Given the description of an element on the screen output the (x, y) to click on. 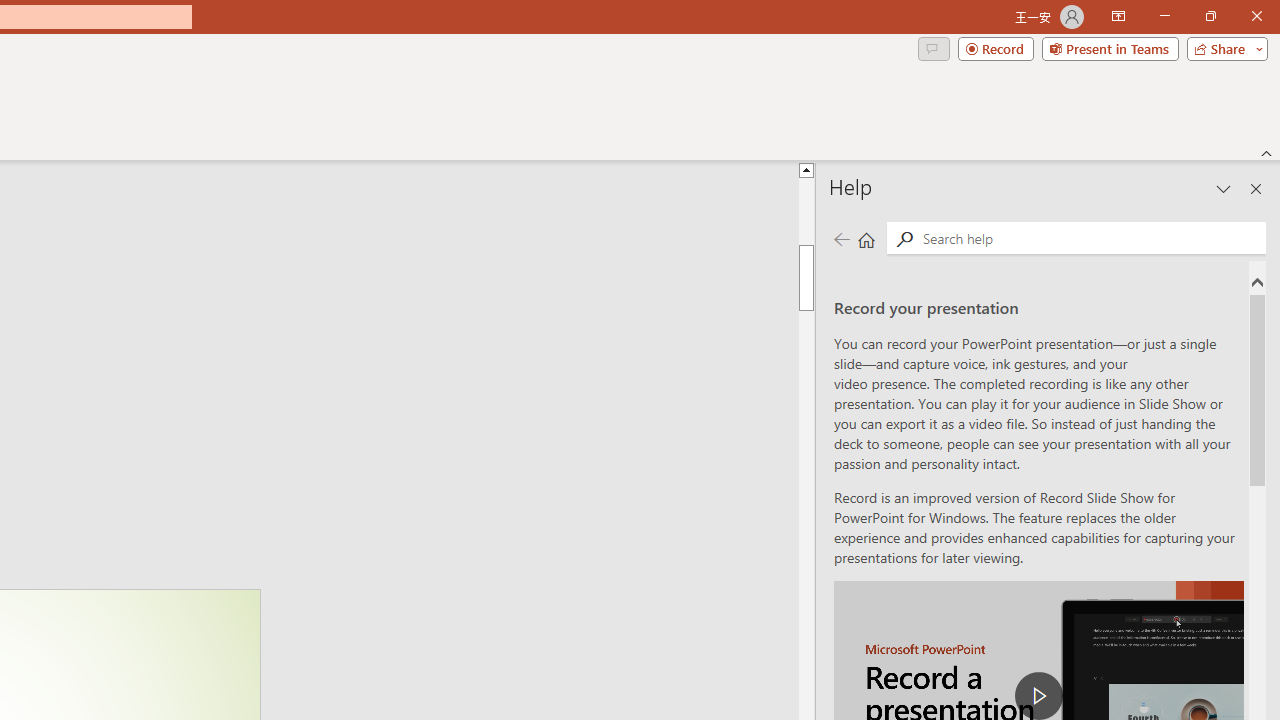
play Record a Presentation (1038, 695)
